Given the description of an element on the screen output the (x, y) to click on. 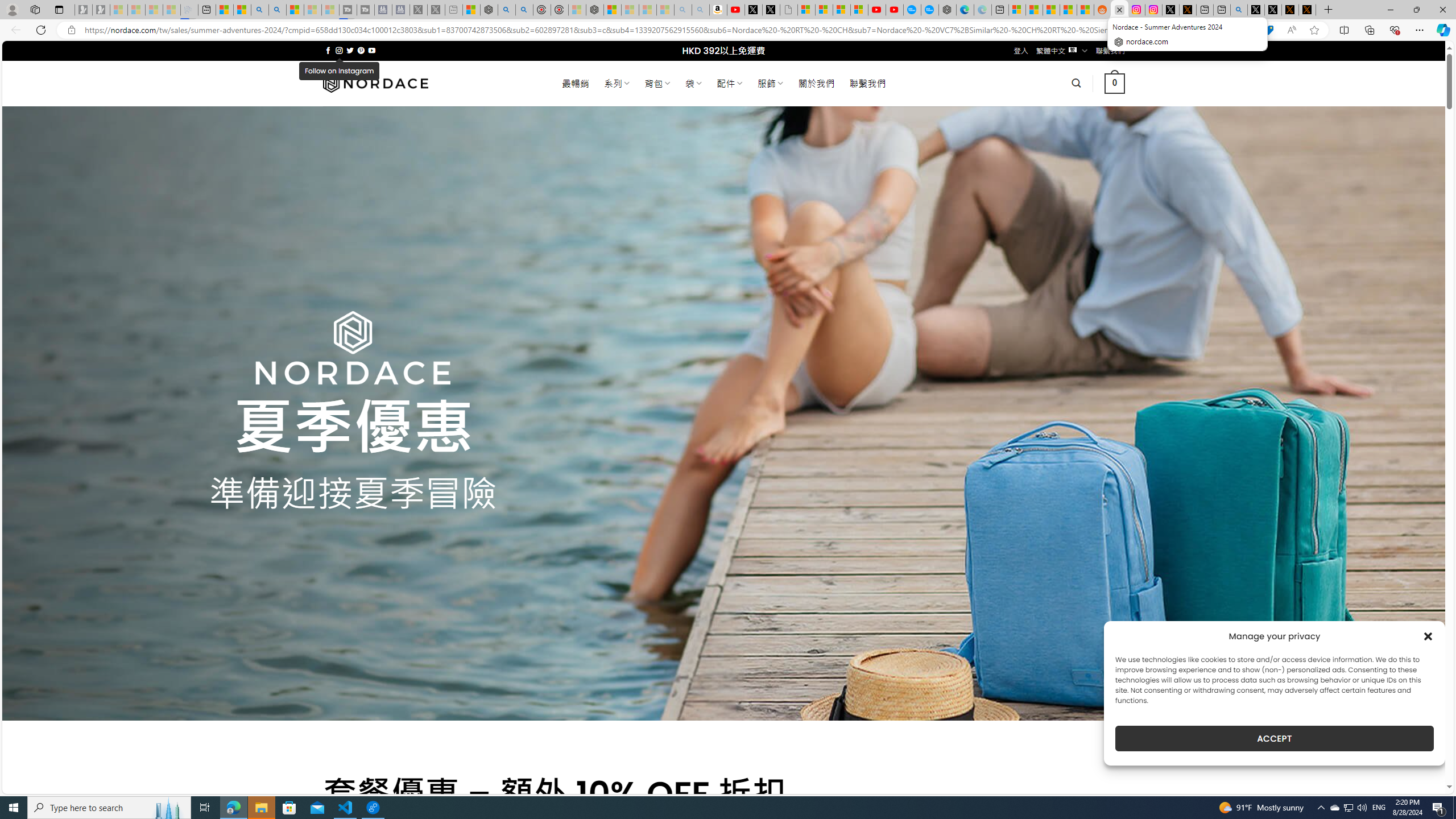
Log in to X / X (1170, 9)
Back (13, 29)
Workspaces (34, 9)
ACCEPT (1274, 738)
Nordace (374, 83)
Shanghai, China weather forecast | Microsoft Weather (1034, 9)
Read aloud this page (Ctrl+Shift+U) (1291, 29)
Amazon Echo Dot PNG - Search Images - Sleeping (700, 9)
Follow on Facebook (327, 50)
This site has coupons! Shopping in Microsoft Edge (1268, 29)
